Given the description of an element on the screen output the (x, y) to click on. 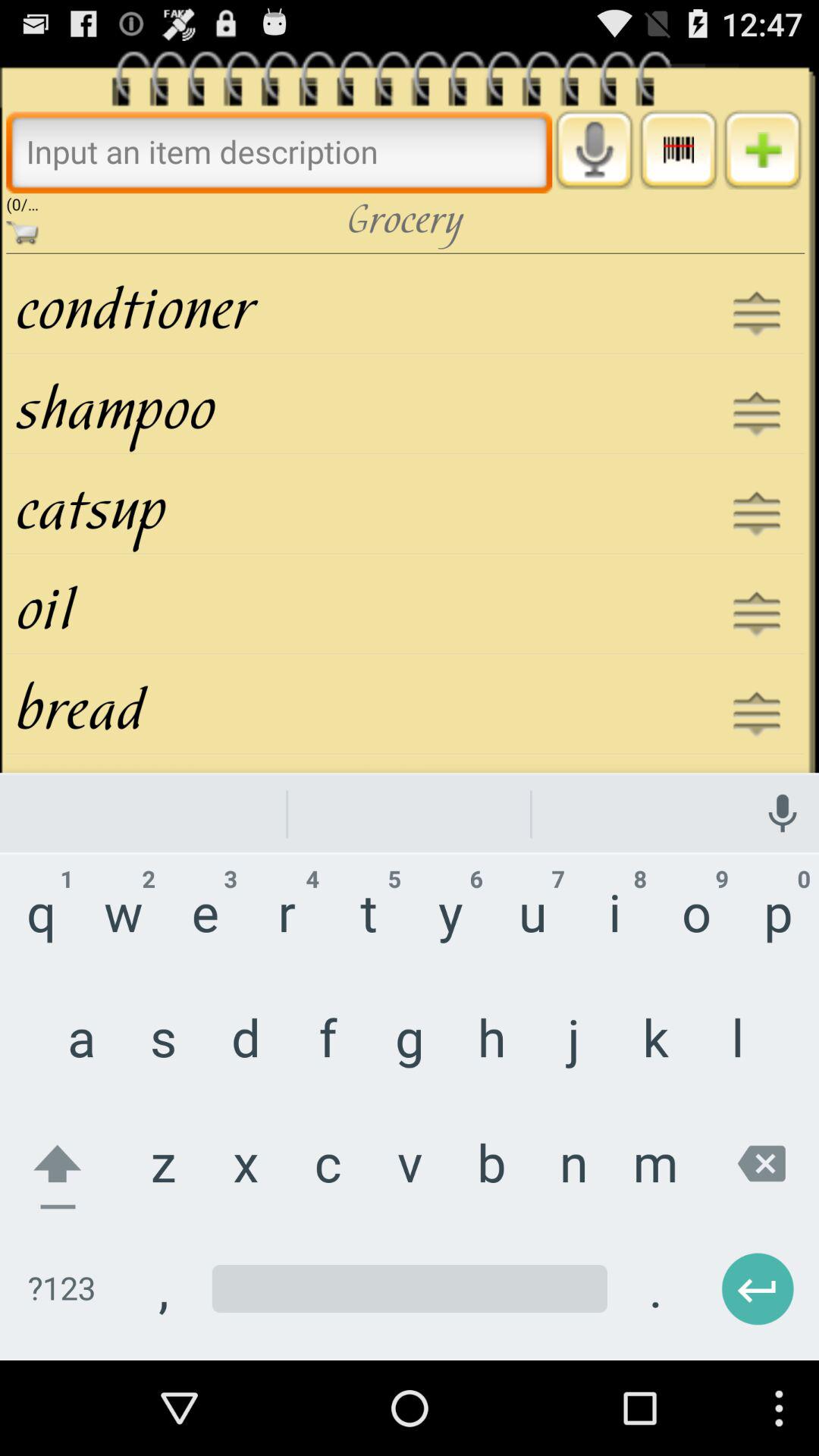
menu button (678, 149)
